Given the description of an element on the screen output the (x, y) to click on. 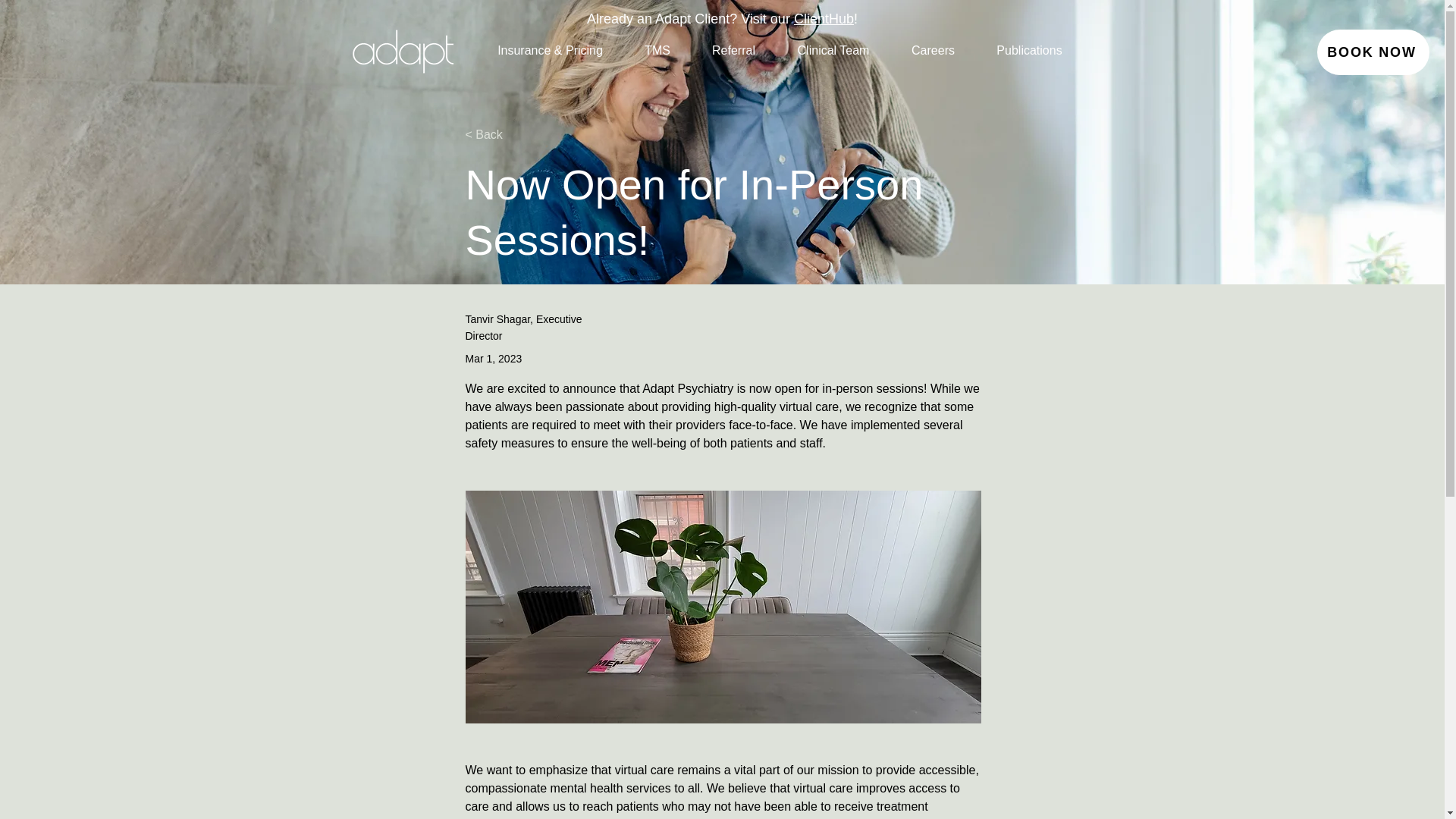
Careers (932, 50)
Clinical Team (833, 50)
TMS (656, 50)
Referral (733, 50)
BOOK NOW (1373, 52)
Adapt Psychiatry Logo (401, 48)
ClientHub (823, 18)
